Given the description of an element on the screen output the (x, y) to click on. 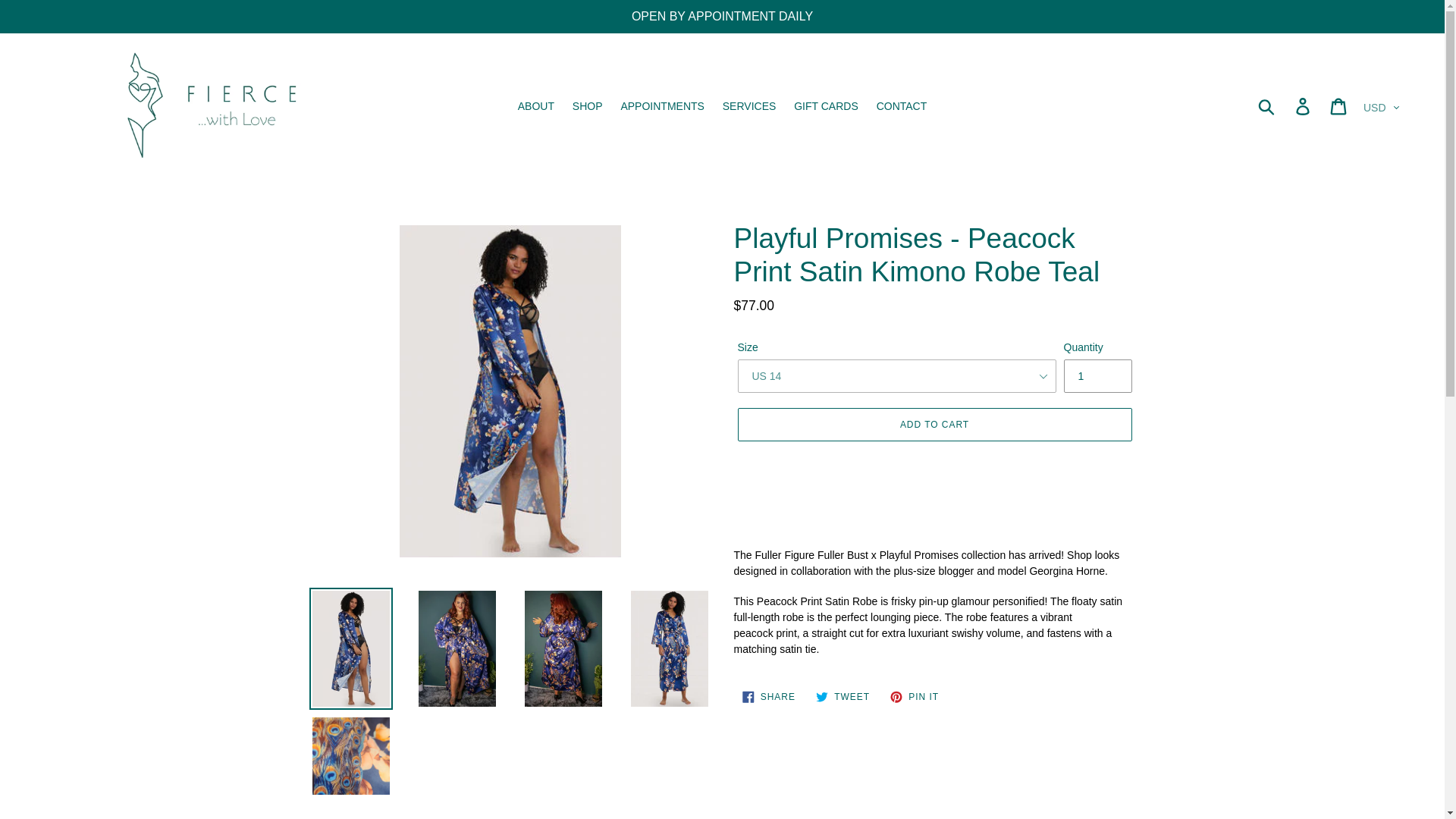
Submit (1267, 105)
SERVICES (749, 106)
Log in (1303, 106)
GIFT CARDS (842, 696)
Cart (826, 106)
CONTACT (1339, 106)
APPOINTMENTS (901, 106)
ABOUT (768, 696)
